Given the description of an element on the screen output the (x, y) to click on. 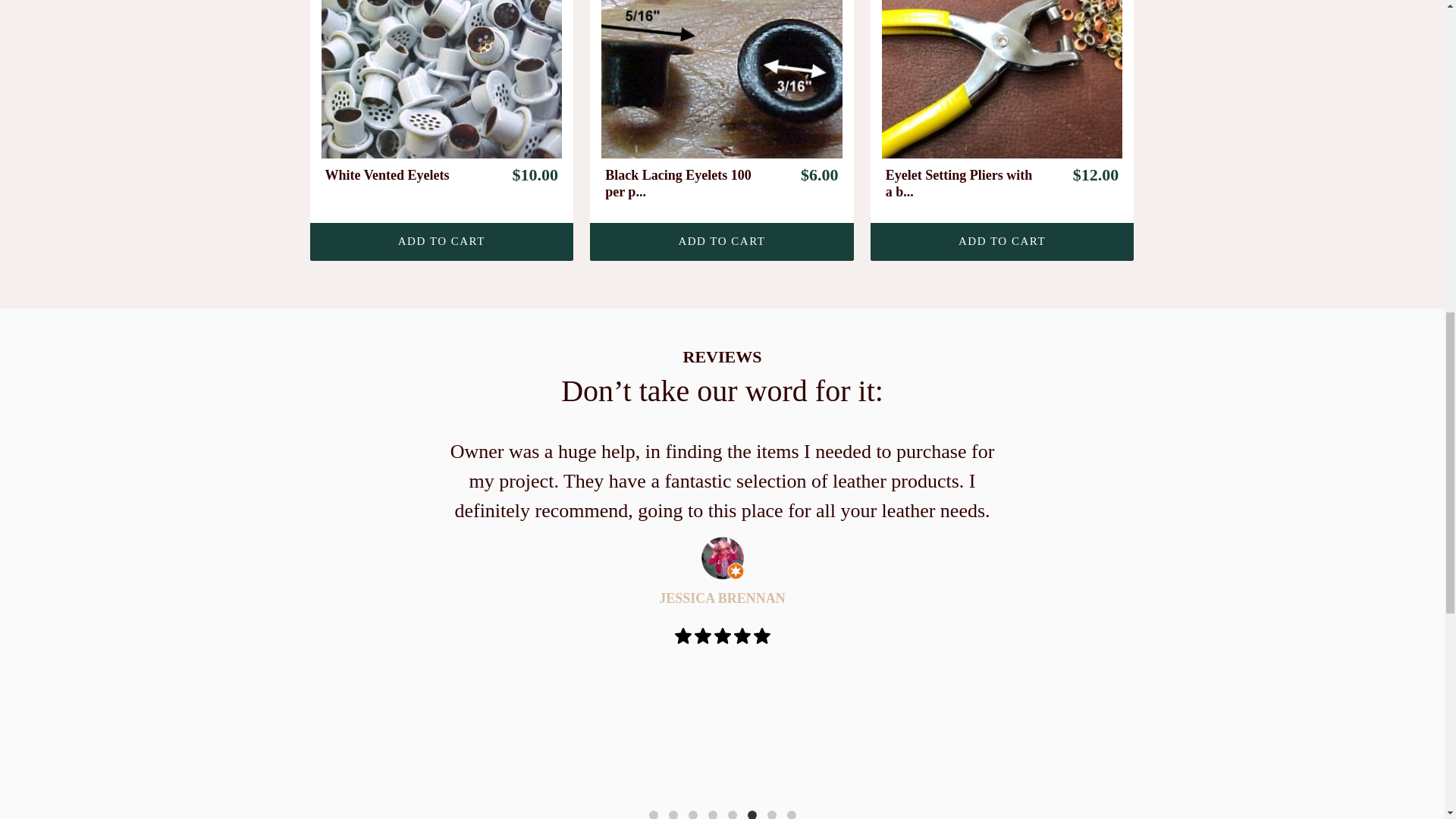
jessica brennan (721, 558)
